Given the description of an element on the screen output the (x, y) to click on. 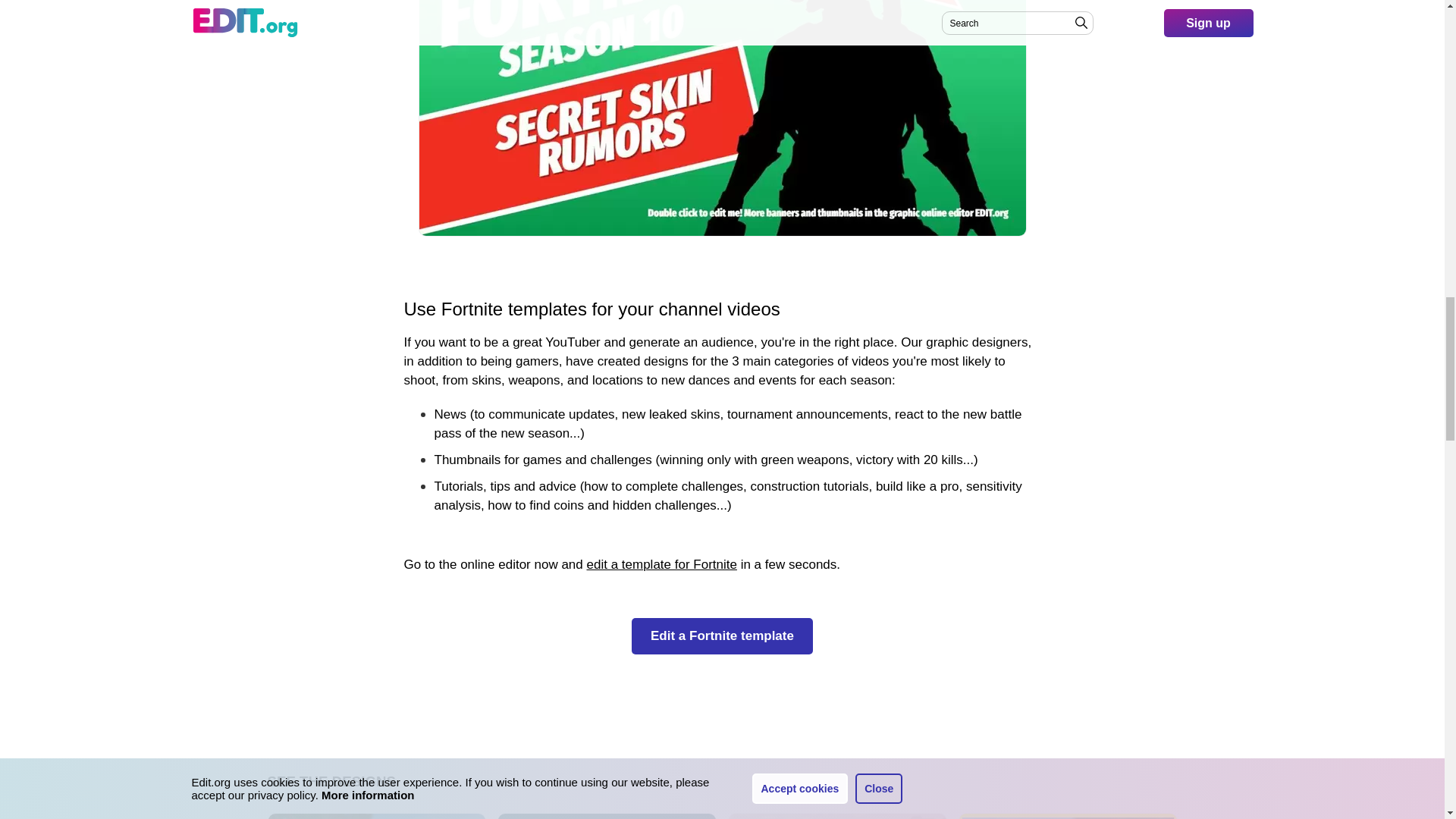
edit a template for Fortnite (661, 564)
Edit a Fortnite template (1067, 816)
Edit a Fortnite template (376, 816)
Edit a Fortnite template (606, 816)
Edit a Fortnite template (837, 816)
Edit a Fortnite template (721, 636)
Free editable templates for Fortnite (661, 564)
